Given the description of an element on the screen output the (x, y) to click on. 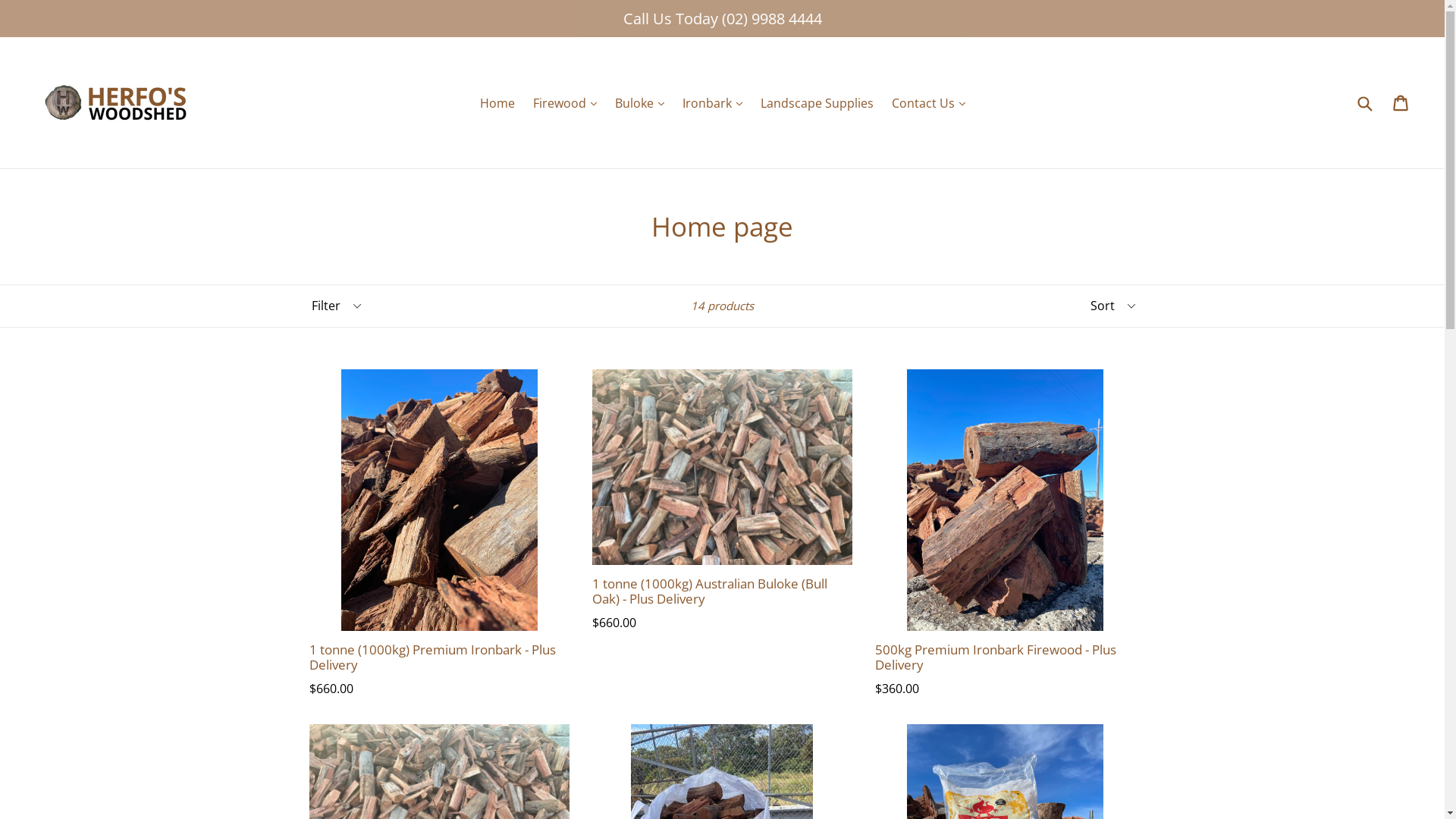
Cart
Cart Element type: text (1401, 101)
Submit Element type: text (1363, 102)
Home Element type: text (496, 102)
Landscape Supplies Element type: text (816, 102)
